Given the description of an element on the screen output the (x, y) to click on. 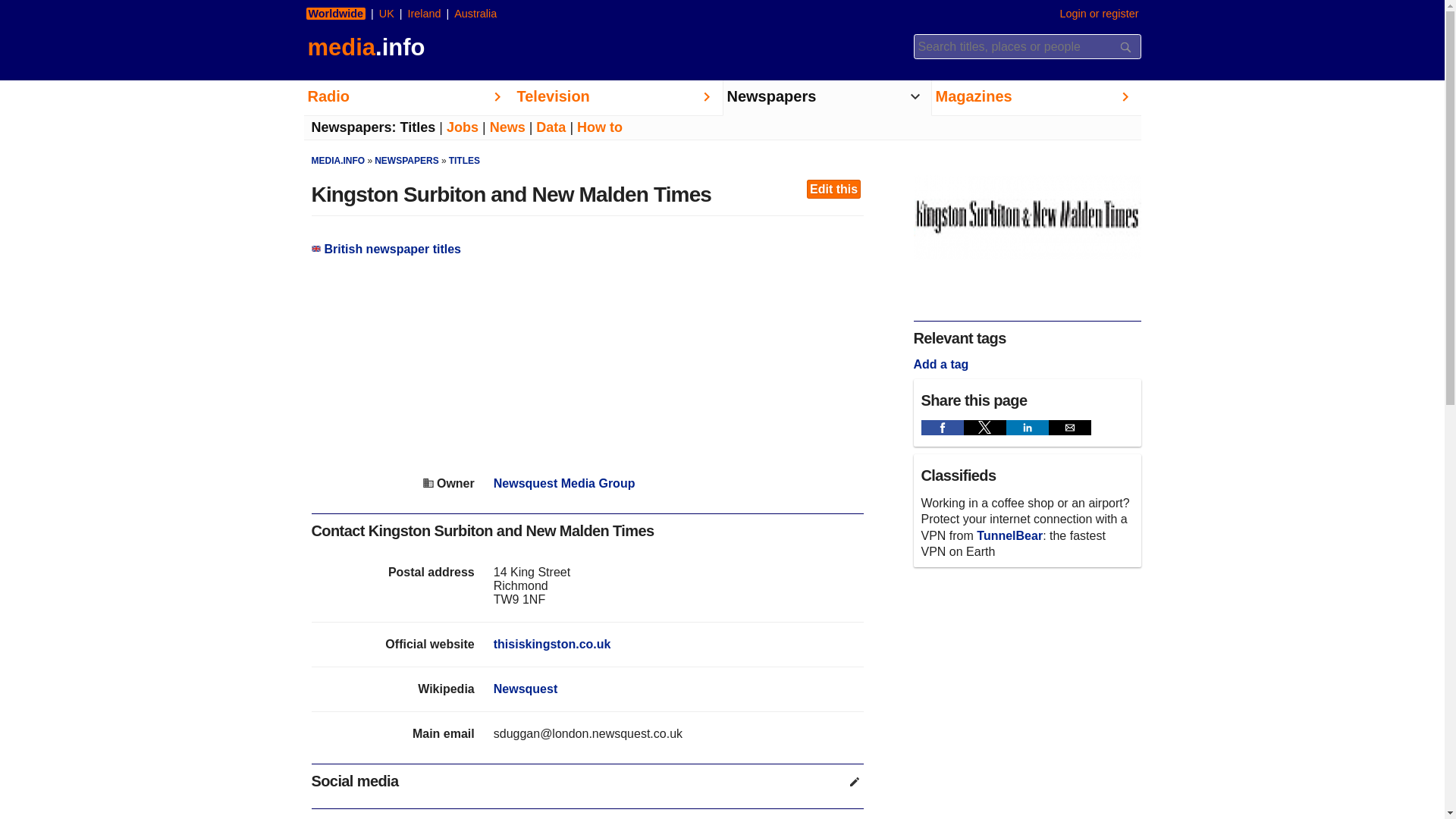
TITLES (464, 160)
Titles (417, 127)
media.info (363, 47)
Radio (407, 98)
Australia (475, 13)
3rd party ad content (587, 366)
UK (386, 13)
British newspaper titles (386, 248)
Worldwide (335, 13)
Newspapers (826, 98)
Jobs (462, 127)
Magazines (1035, 98)
Newsquest (525, 688)
Television (617, 98)
thisiskingston.co.uk (552, 644)
